Given the description of an element on the screen output the (x, y) to click on. 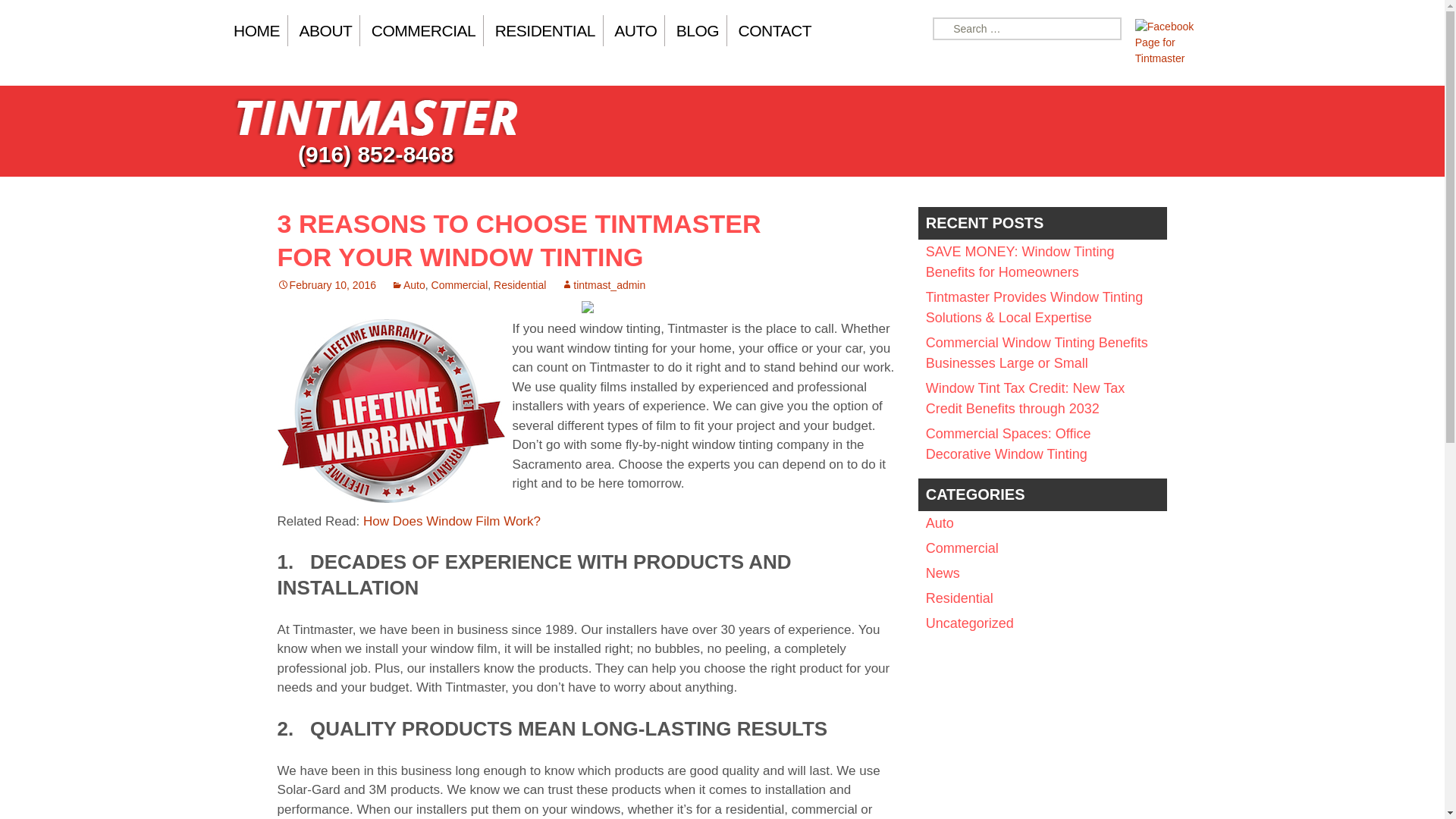
ABOUT (326, 30)
Commercial (458, 285)
How Does Window Film Work? (451, 521)
COMMERCIAL (423, 30)
News (942, 572)
HOME (260, 30)
SAVE MONEY: Window Tinting Benefits for Homeowners (1020, 262)
RESIDENTIAL (545, 30)
Auto (939, 522)
BLOG (697, 30)
